Given the description of an element on the screen output the (x, y) to click on. 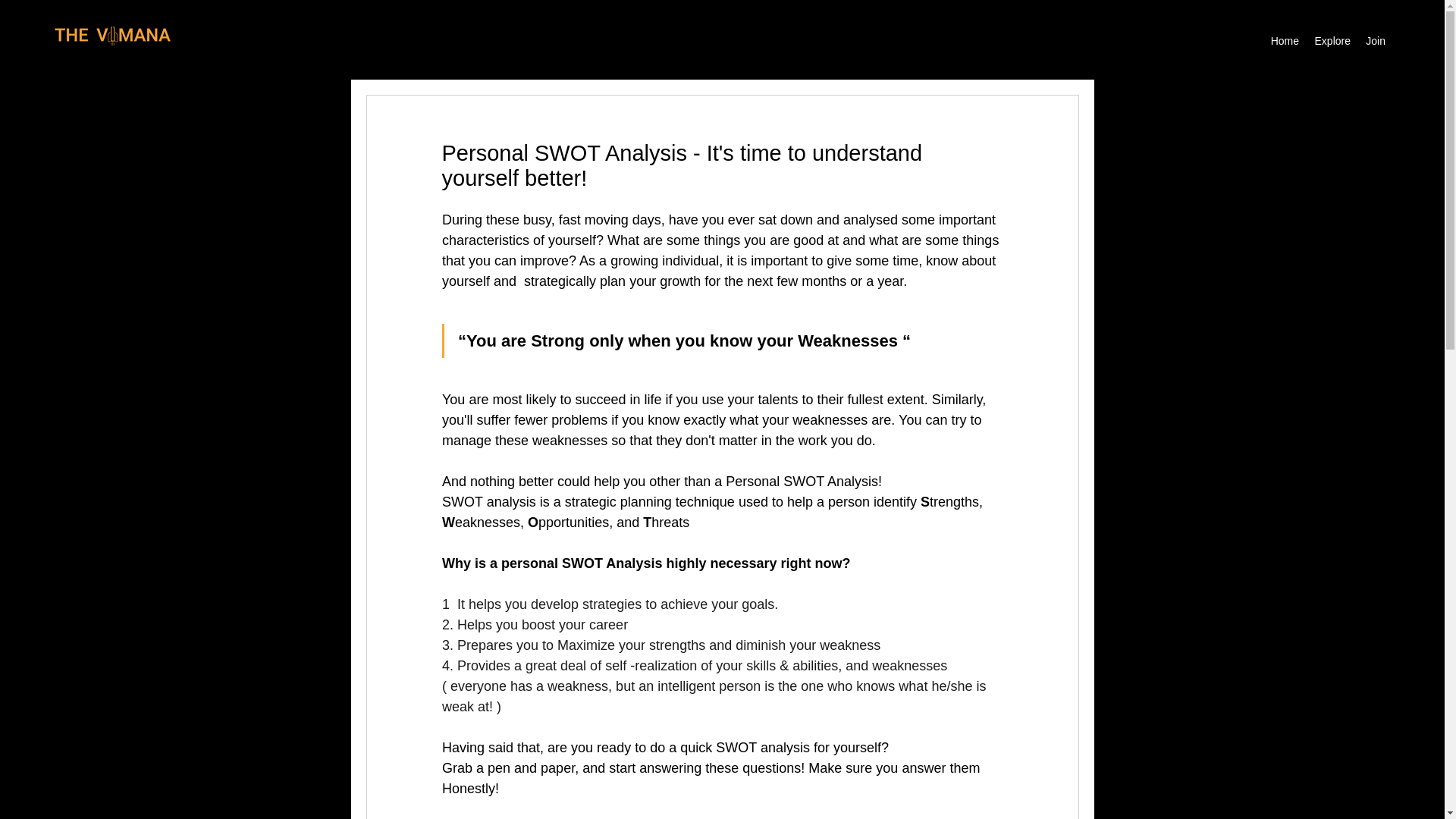
Home (1284, 40)
Join (1375, 40)
Explore (1332, 40)
strategic planning (617, 501)
